Given the description of an element on the screen output the (x, y) to click on. 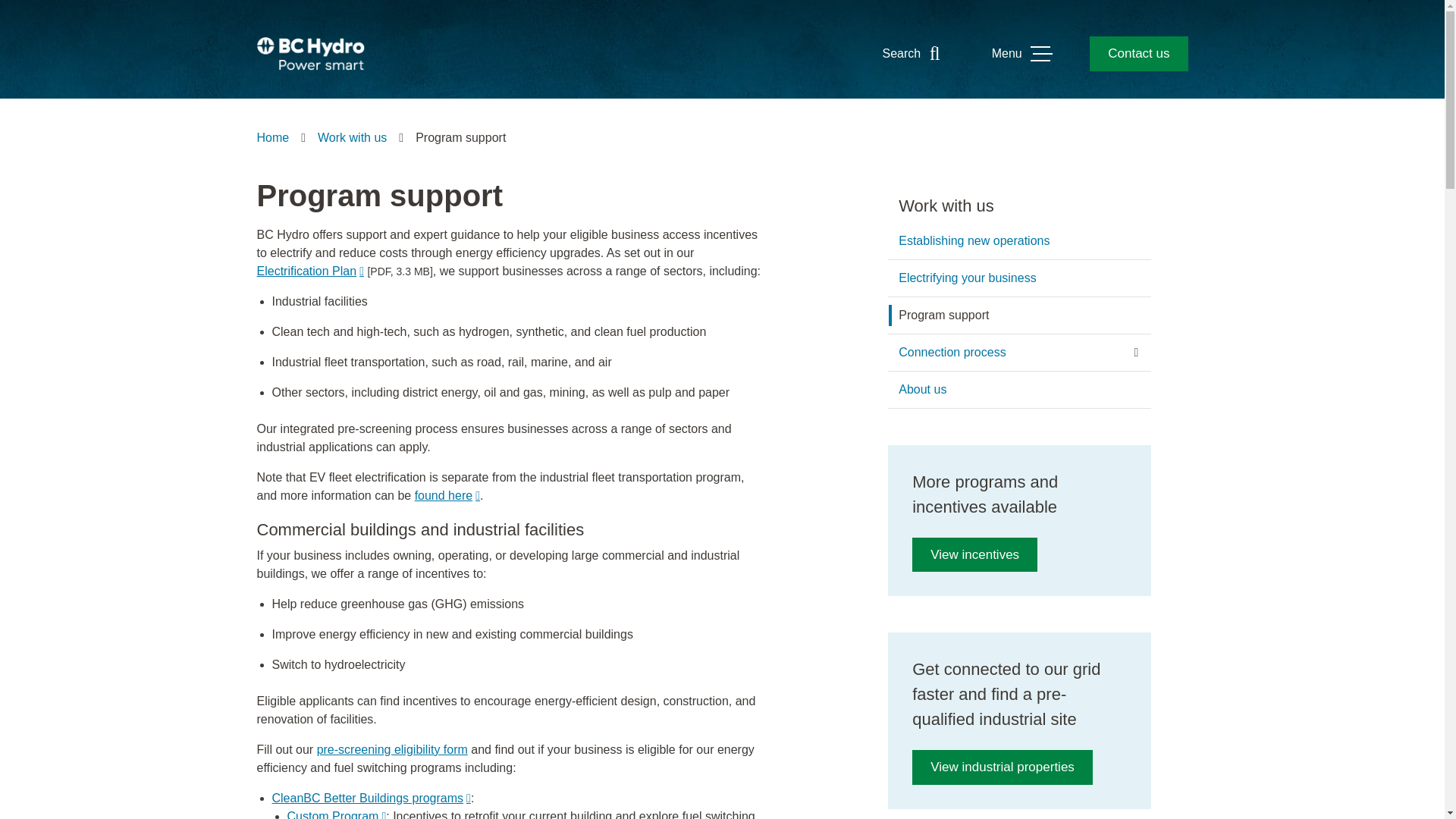
Search (915, 53)
Contact us (1138, 53)
Menu (1021, 53)
